Given the description of an element on the screen output the (x, y) to click on. 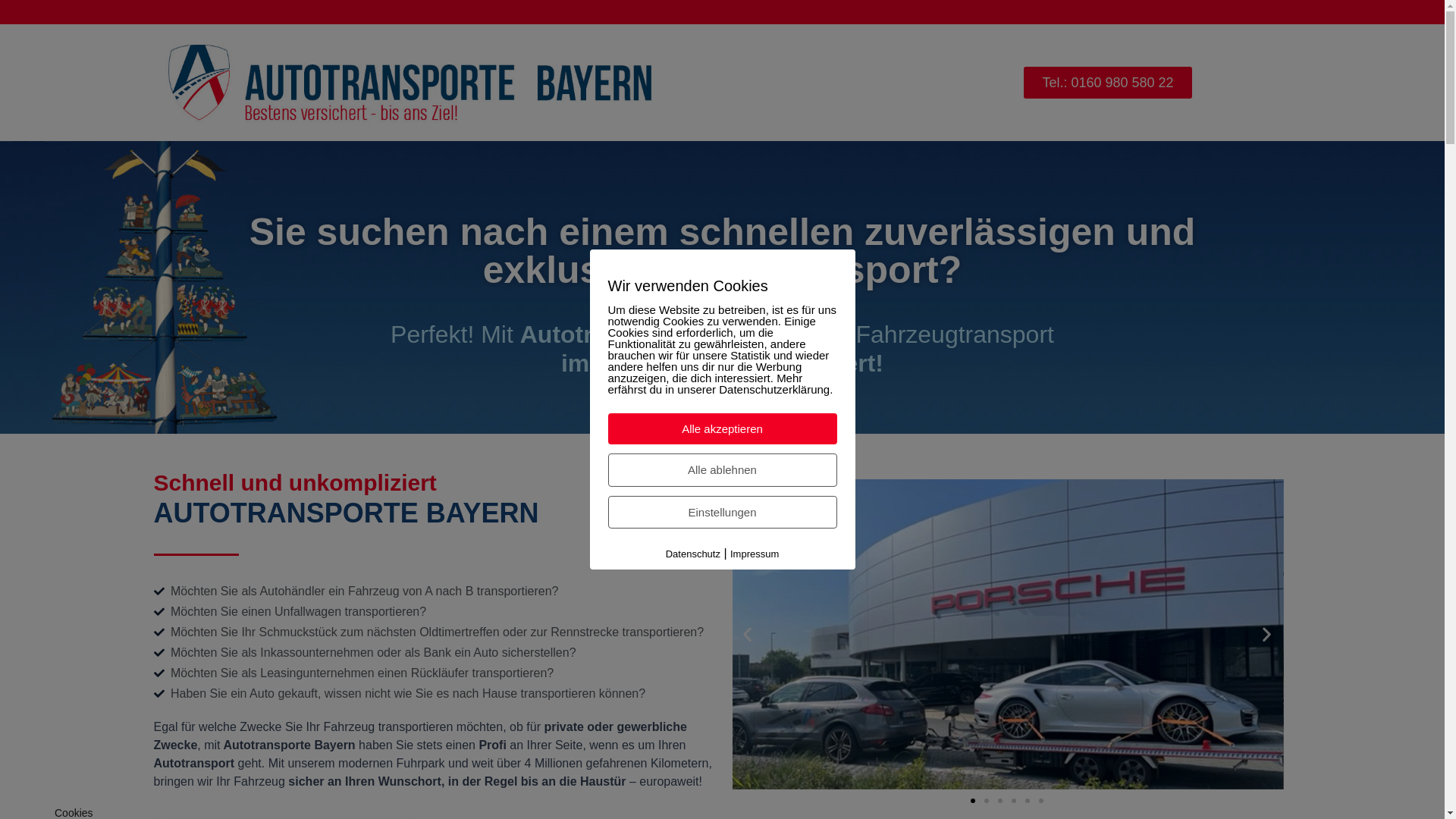
Datenschutz Element type: text (692, 553)
Impressum Element type: text (754, 553)
Alle akzeptieren Element type: text (722, 428)
Tel.: 0160 980 580 22 Element type: text (1107, 82)
Alle ablehnen Element type: text (722, 469)
Einstellungen Element type: text (722, 511)
